Given the description of an element on the screen output the (x, y) to click on. 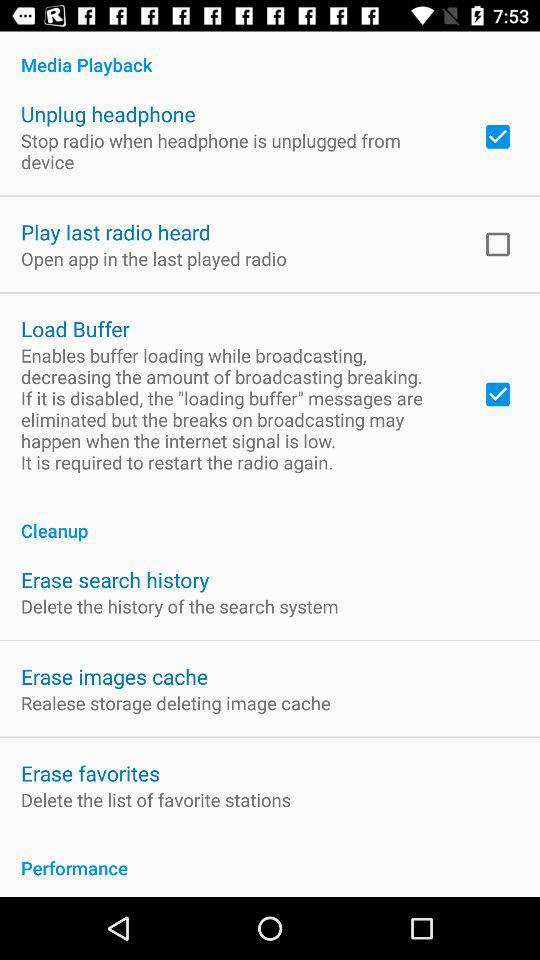
open the app above load buffer app (153, 258)
